Given the description of an element on the screen output the (x, y) to click on. 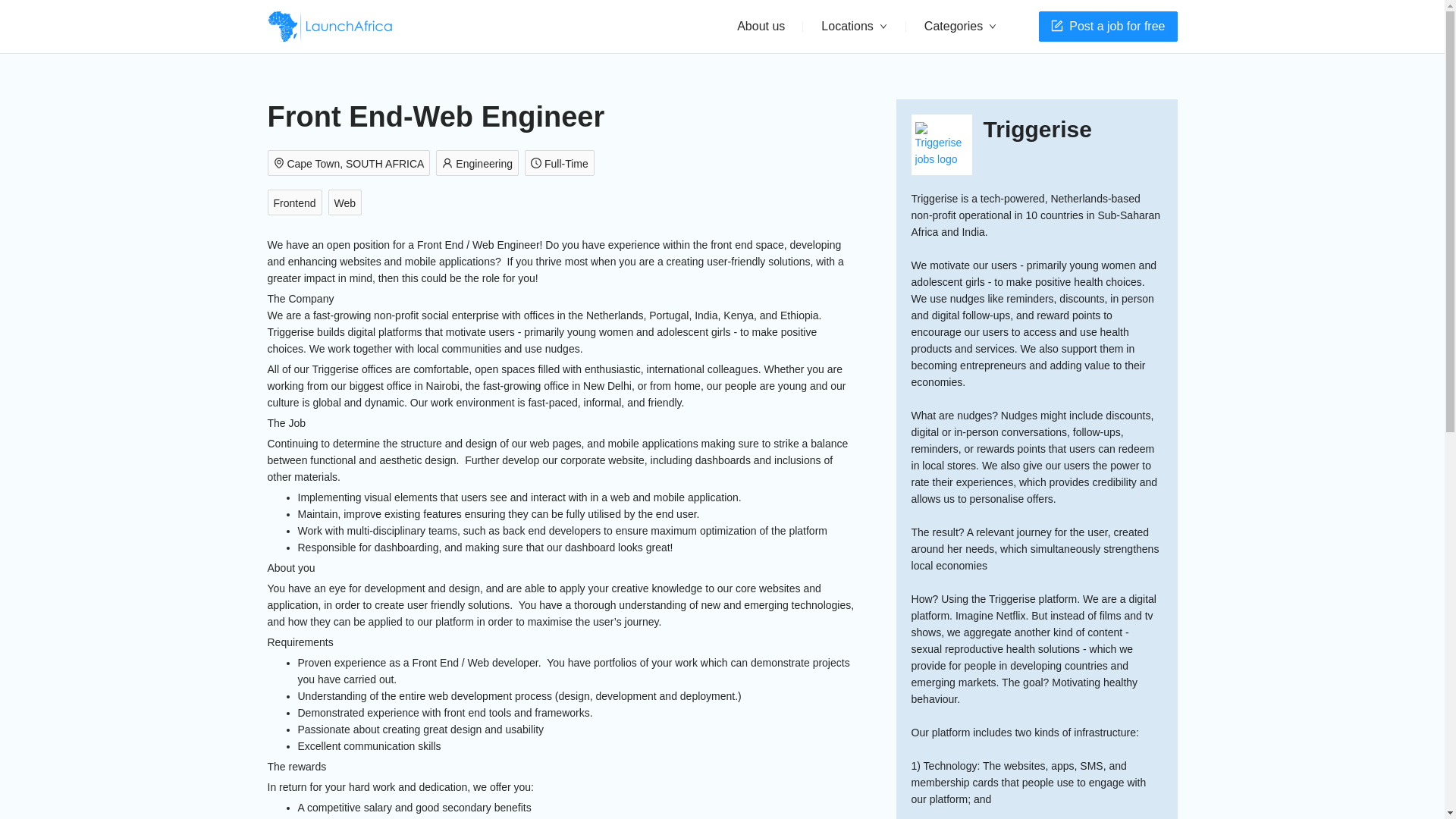
Post a job for free (1107, 26)
Cape Town, SOUTH AFRICA (350, 163)
Engineering (479, 163)
Frontend (296, 203)
Categories (960, 26)
Web (348, 203)
Triggerise (1038, 129)
About us (760, 25)
Locations (854, 26)
